Given the description of an element on the screen output the (x, y) to click on. 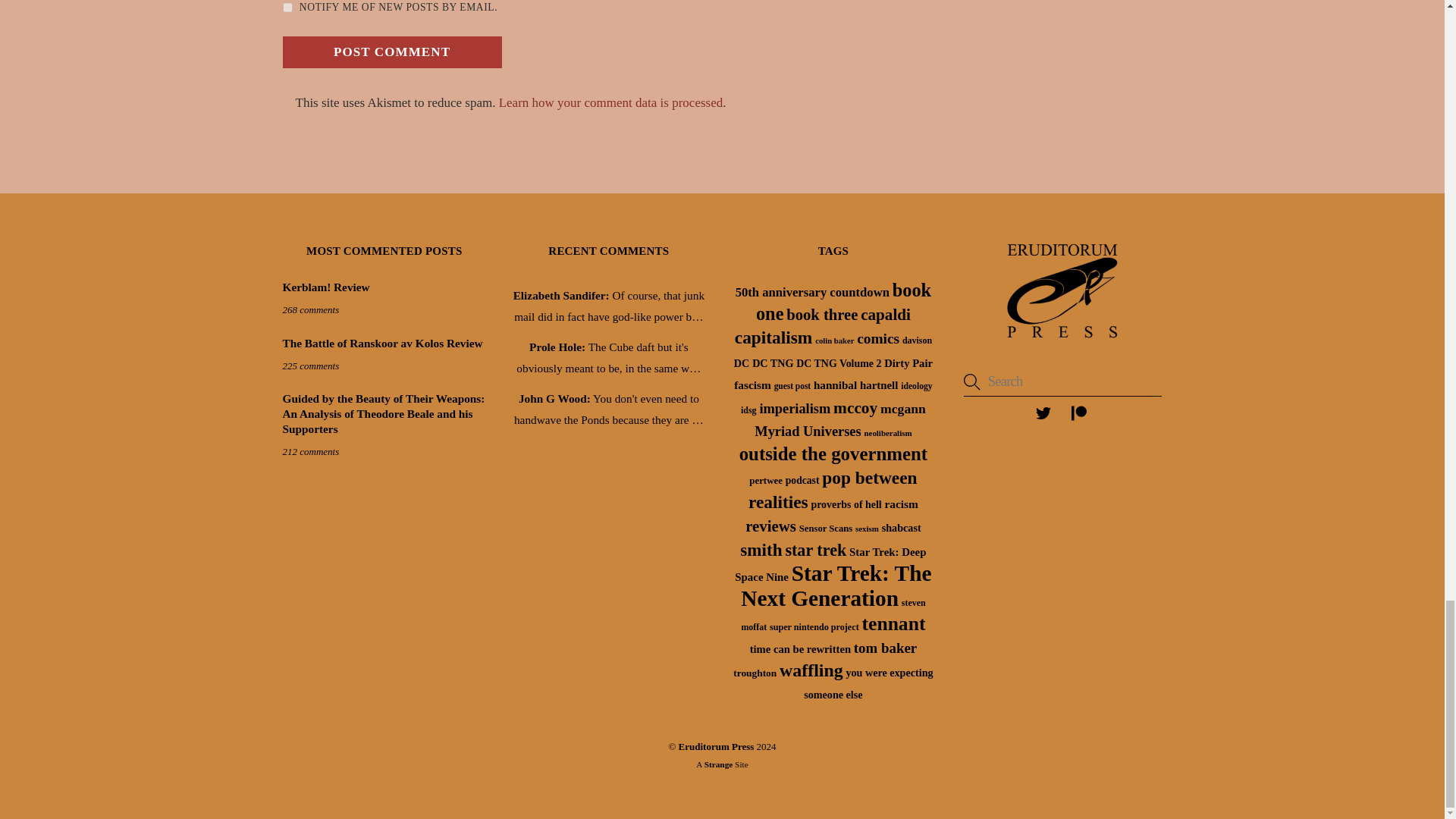
Eruditorum Press Logo (1062, 291)
Post Comment (391, 51)
Eruditorum Press (1062, 342)
Strange Specimen (718, 764)
subscribe (287, 7)
Search (1062, 381)
